Given the description of an element on the screen output the (x, y) to click on. 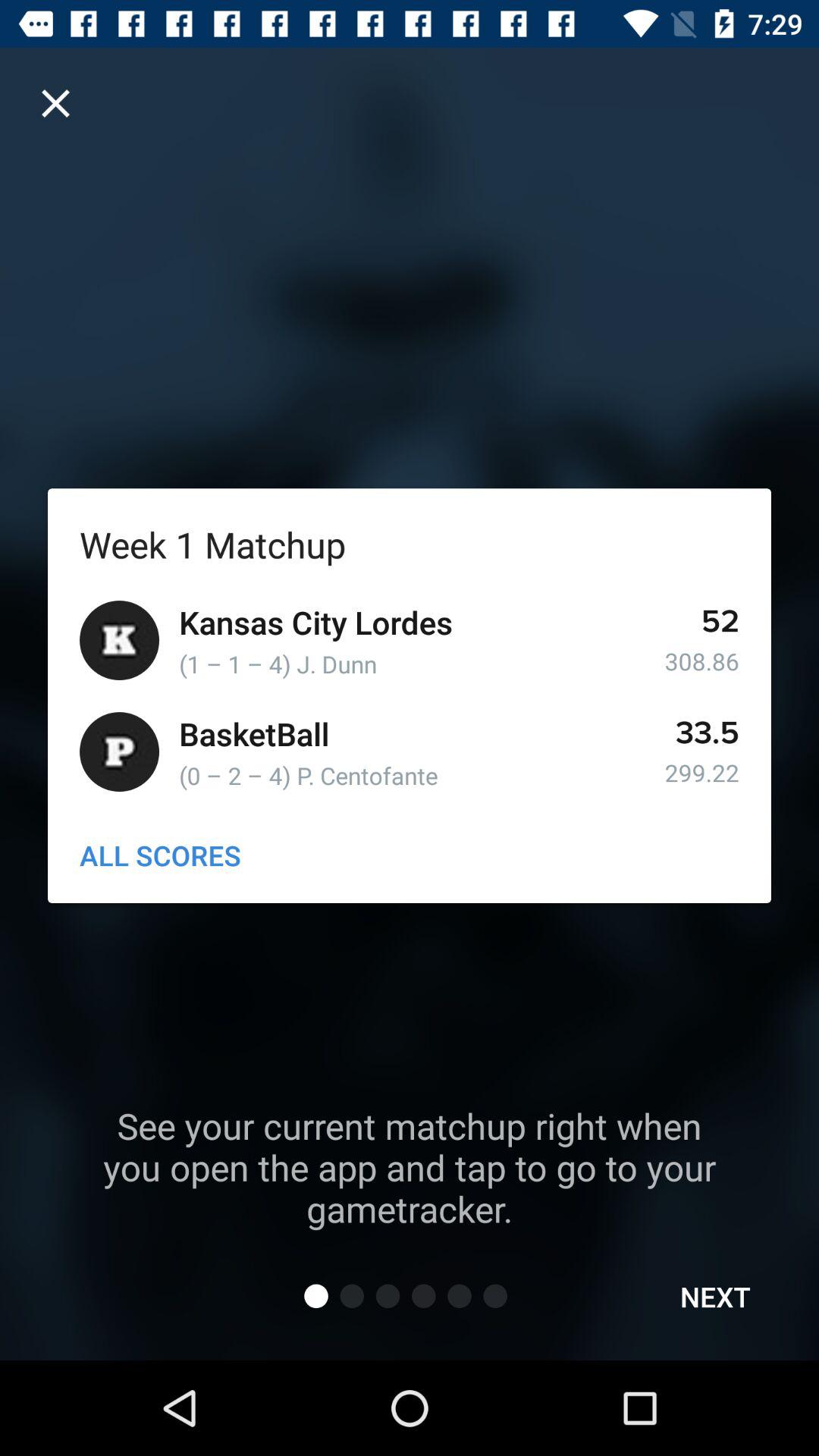
close section (55, 103)
